Given the description of an element on the screen output the (x, y) to click on. 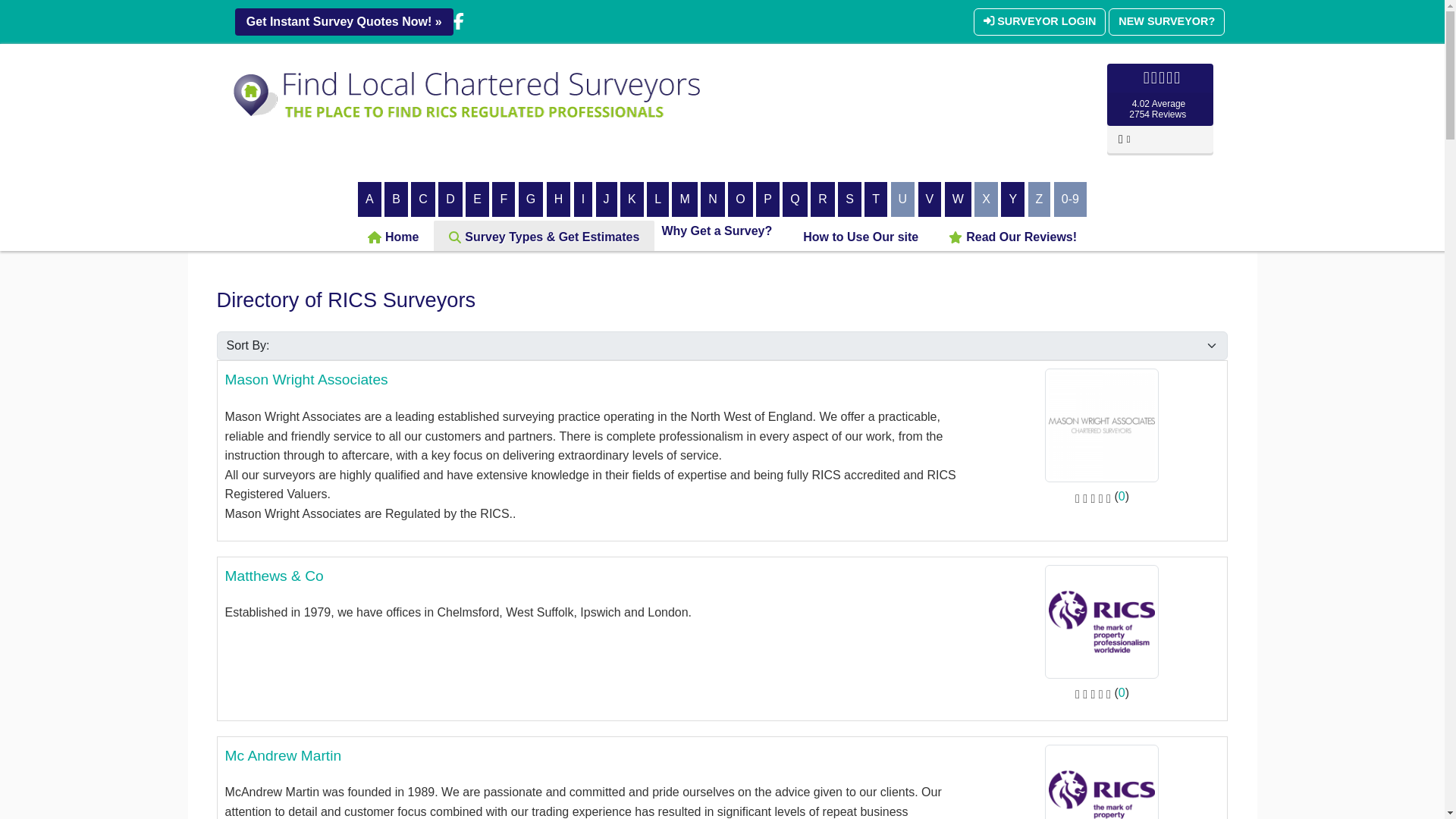
NEW SURVEYOR? (1166, 22)
Mc Andrew Martin (283, 755)
Mason Wright Associates (306, 379)
Not rated yet! (1092, 496)
Reviews Badge Widget (1159, 110)
Mc Andrew Martin (1101, 799)
SURVEYOR LOGIN (1039, 22)
Home (392, 236)
Not rated yet! (1092, 693)
Mason Wright Associates (1101, 424)
